Given the description of an element on the screen output the (x, y) to click on. 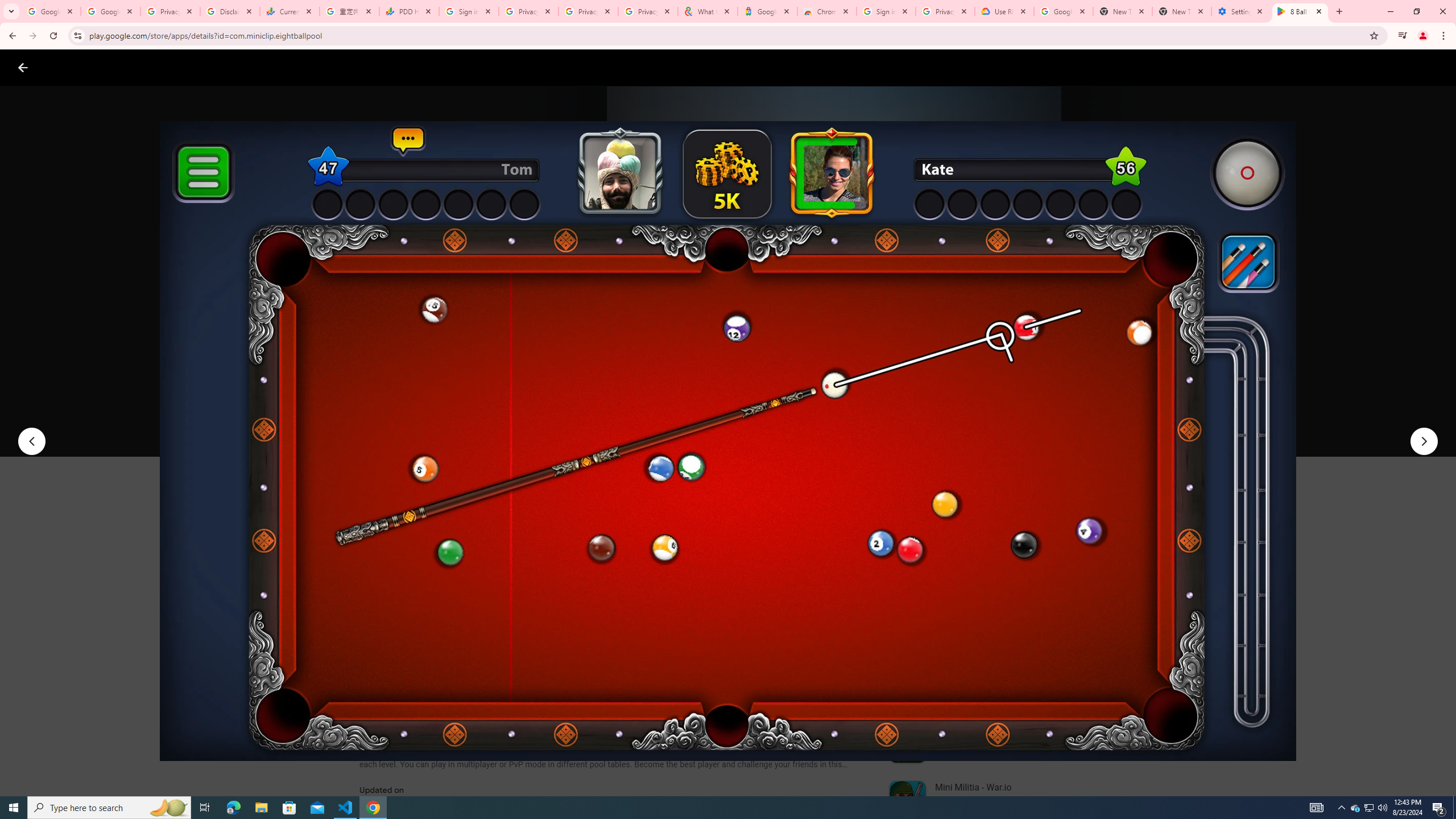
Content rating (553, 373)
Close screenshot viewer (22, 67)
Google Play logo (64, 67)
Play trailer (1062, 423)
Previous (31, 441)
Currencies - Google Finance (289, 11)
See more information on More by Miniclip.com (1029, 539)
Miniclip.com (386, 333)
